Given the description of an element on the screen output the (x, y) to click on. 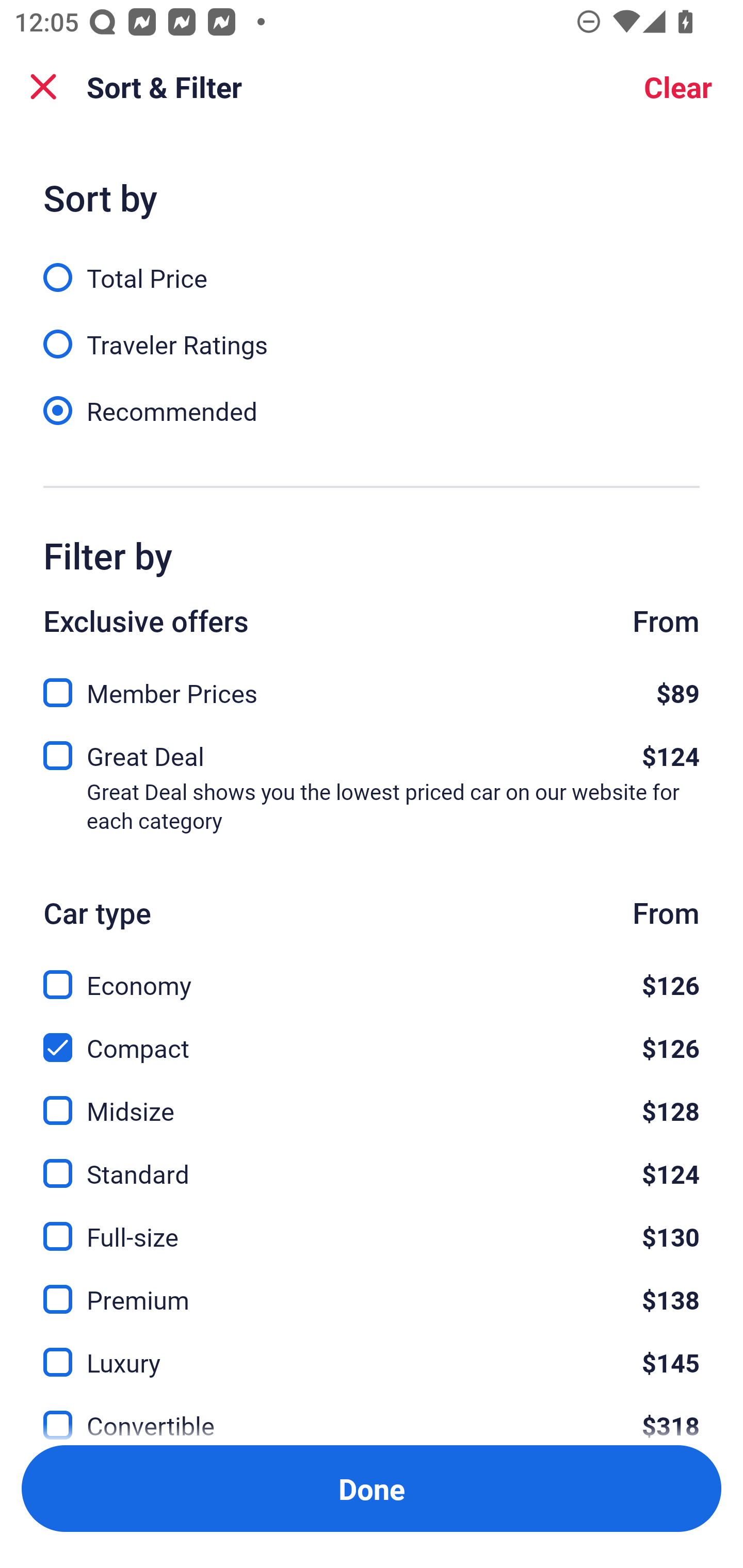
Close Sort and Filter (43, 86)
Clear (677, 86)
Total Price (371, 266)
Traveler Ratings (371, 332)
Member Prices, $89 Member Prices $89 (371, 686)
Economy, $126 Economy $126 (371, 973)
Compact, $126 Compact $126 (371, 1036)
Midsize, $128 Midsize $128 (371, 1098)
Standard, $124 Standard $124 (371, 1161)
Full-size, $130 Full-size $130 (371, 1224)
Premium, $138 Premium $138 (371, 1286)
Luxury, $145 Luxury $145 (371, 1350)
Convertible, $318 Convertible $318 (371, 1413)
Apply and close Sort and Filter Done (371, 1488)
